Given the description of an element on the screen output the (x, y) to click on. 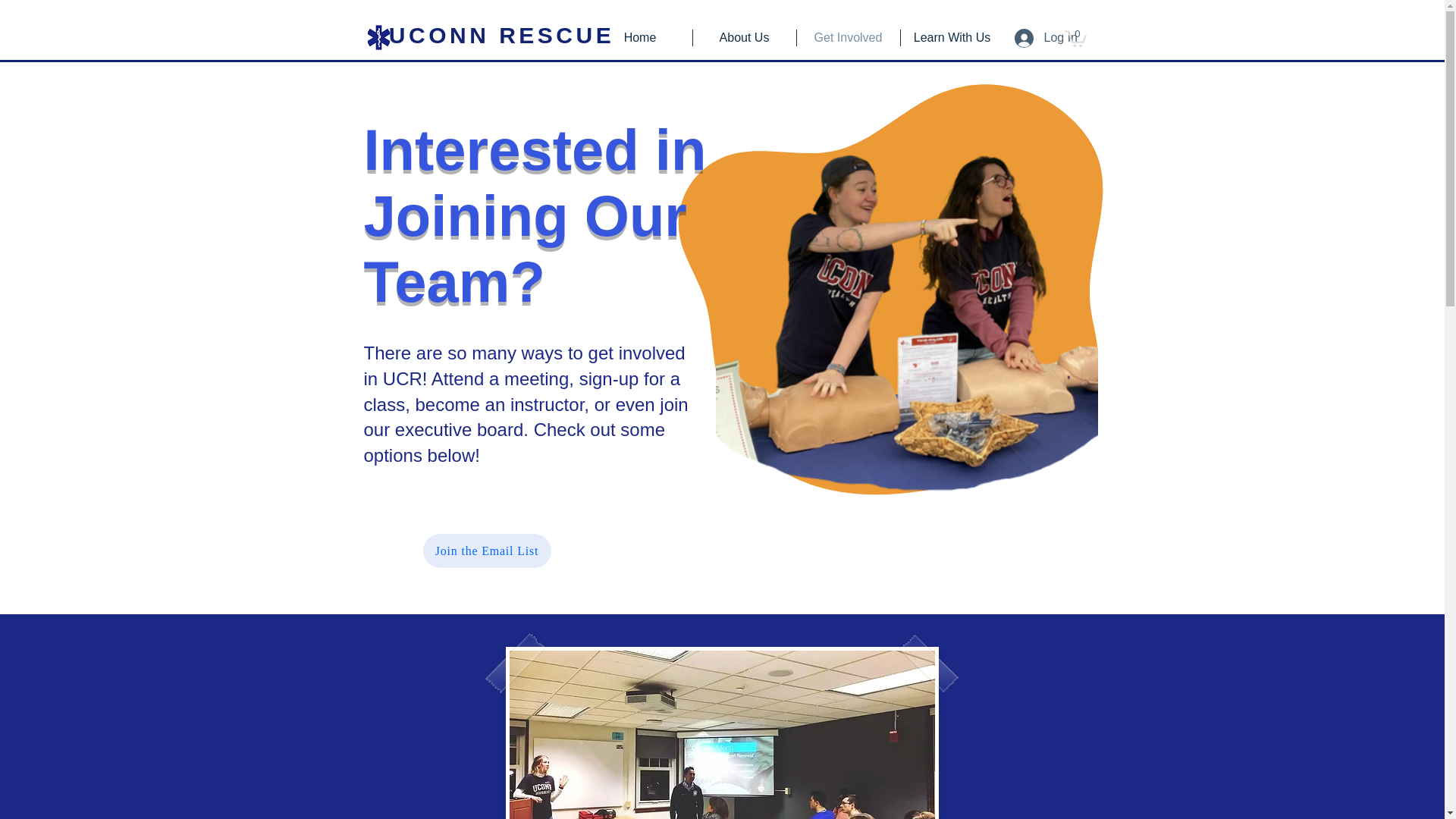
UCONN RESCUE (501, 34)
Learn With Us (952, 37)
0 (1075, 37)
Home (640, 37)
About Us (744, 37)
Log In (1031, 38)
Get Involved (847, 37)
0 (1075, 37)
Join the Email List (487, 550)
